Given the description of an element on the screen output the (x, y) to click on. 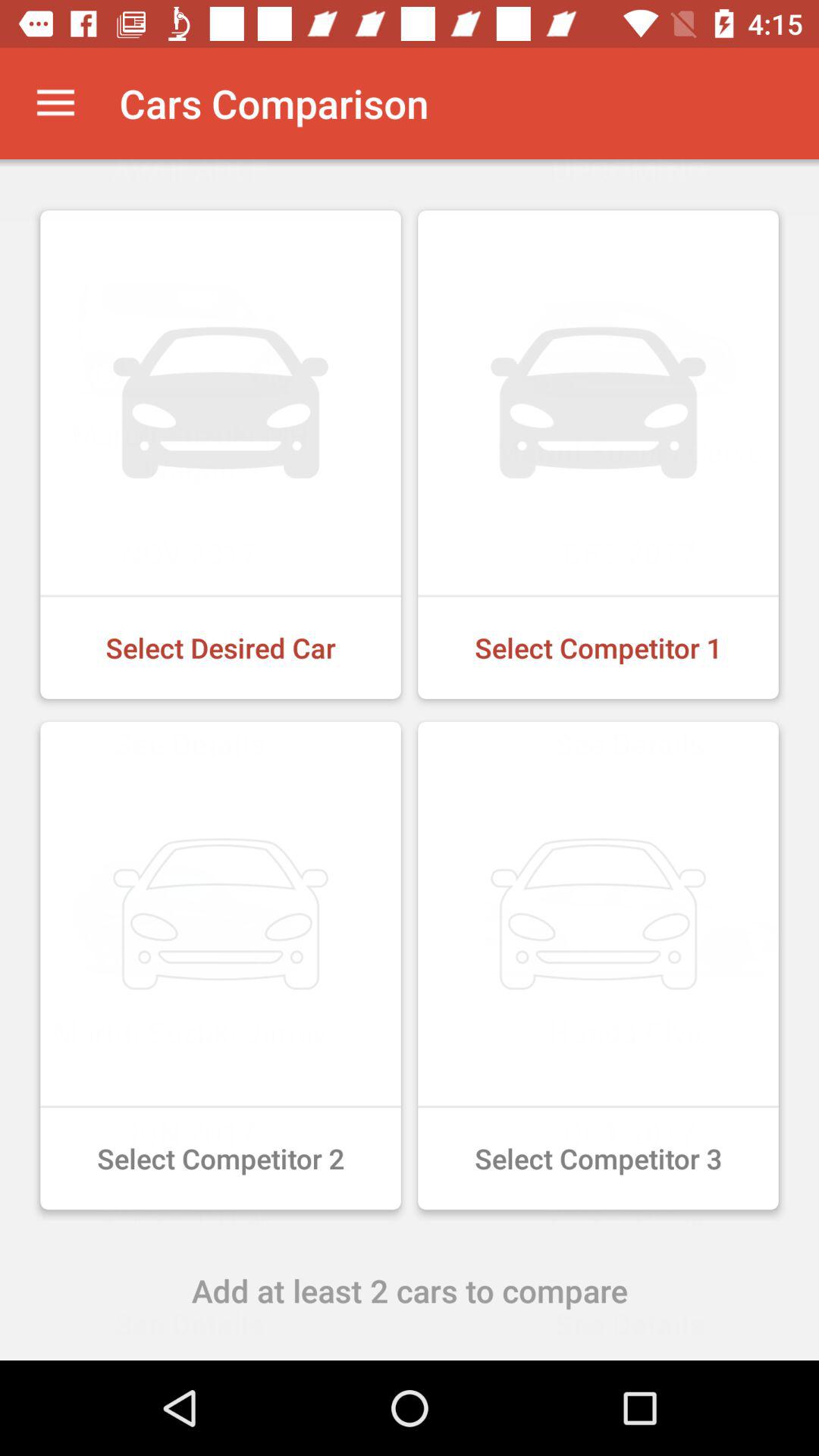
choose app next to the cars comparison (55, 103)
